Given the description of an element on the screen output the (x, y) to click on. 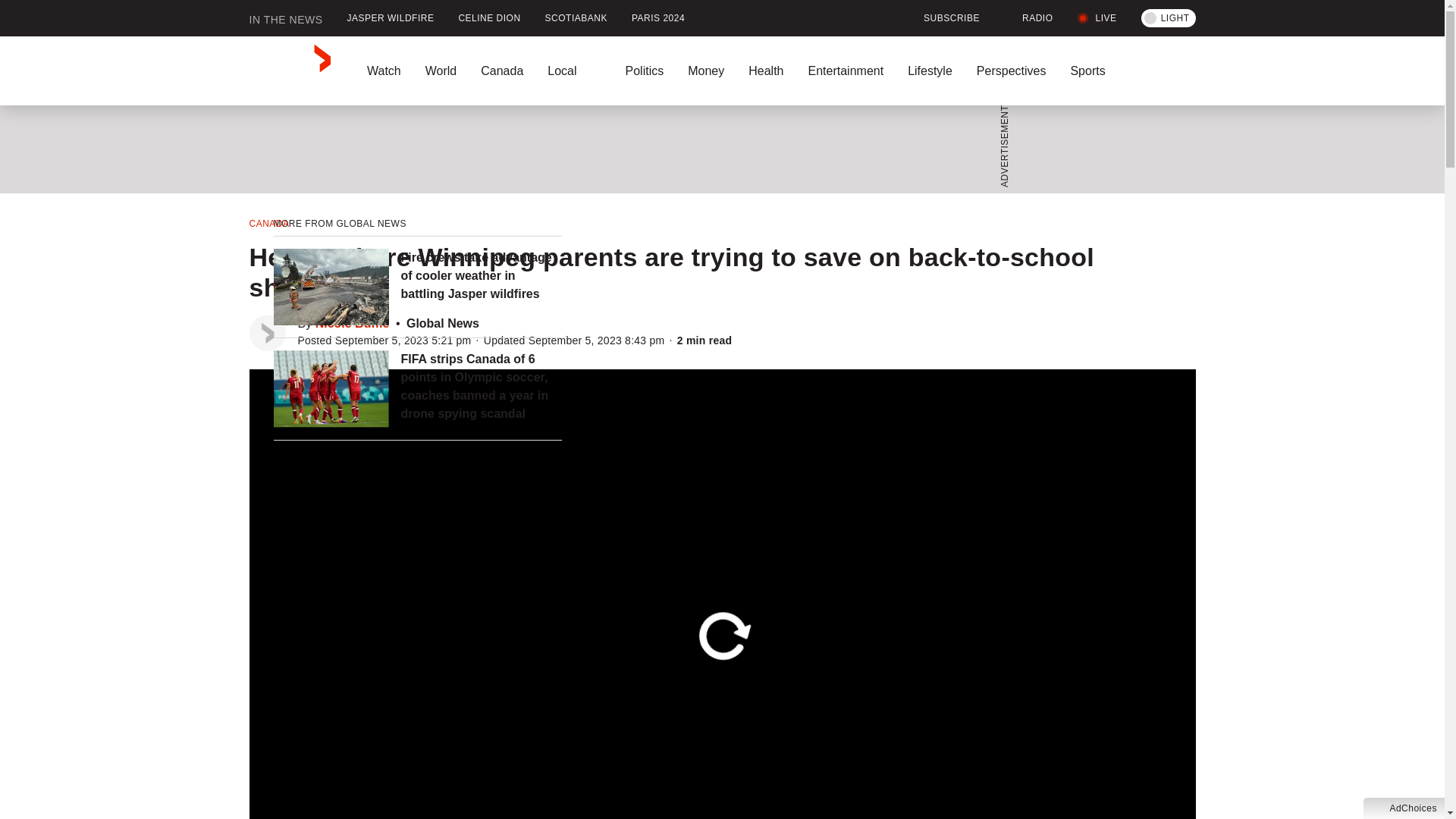
3rd party ad content (716, 149)
PARIS 2024 (658, 18)
Entertainment (844, 70)
SUBSCRIBE (942, 18)
Posts by Nicole Buffie (352, 323)
CELINE DION (488, 18)
LIVE (1096, 18)
Politics (643, 70)
Canada (501, 70)
GlobalNews home (289, 70)
Perspectives (1010, 70)
RADIO (1028, 18)
Local (573, 70)
